Given the description of an element on the screen output the (x, y) to click on. 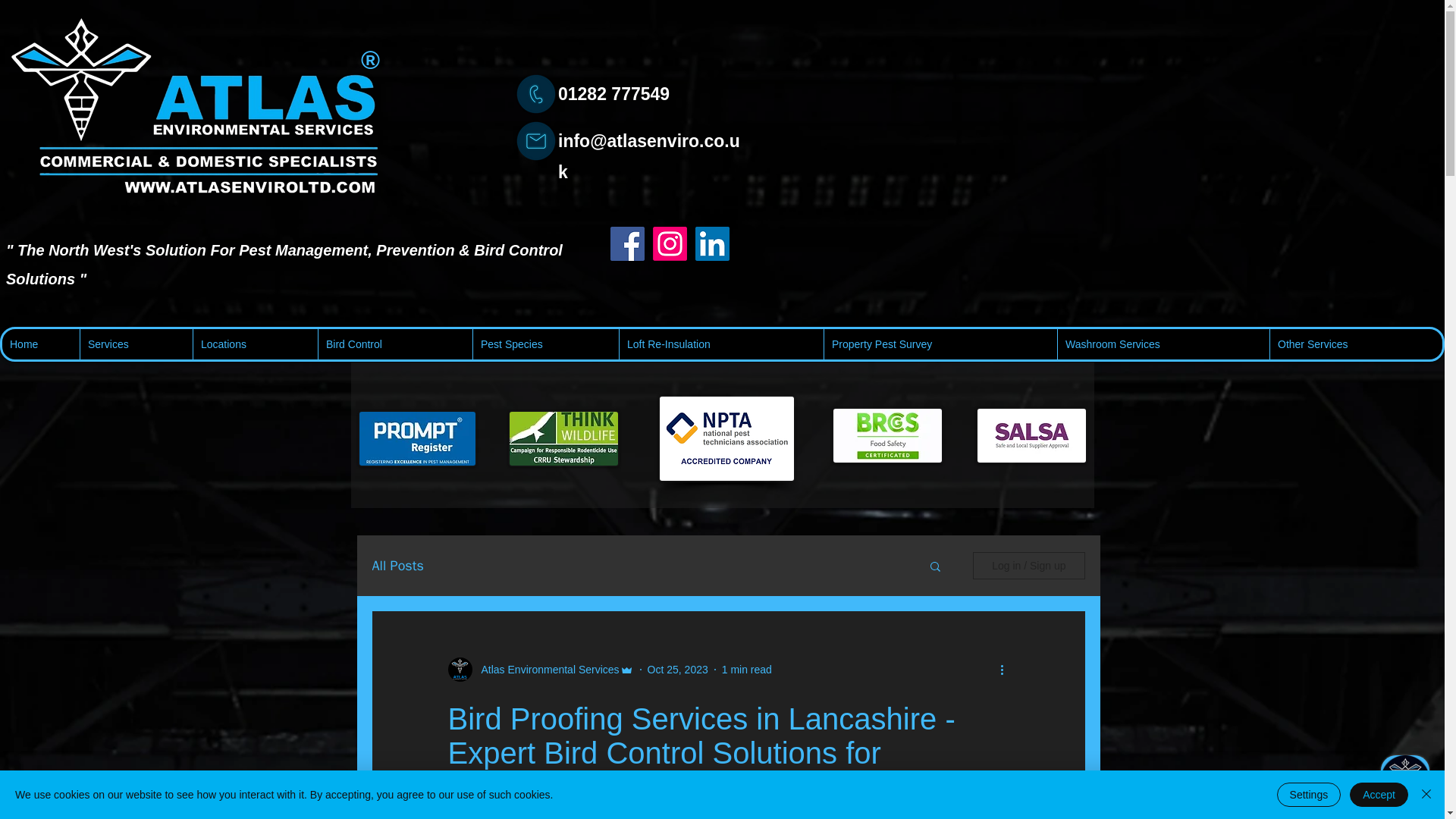
Services (136, 344)
Locations (254, 344)
Home (41, 344)
1 min read (746, 669)
Atlas Environmental Services (544, 669)
Oct 25, 2023 (677, 669)
